Given the description of an element on the screen output the (x, y) to click on. 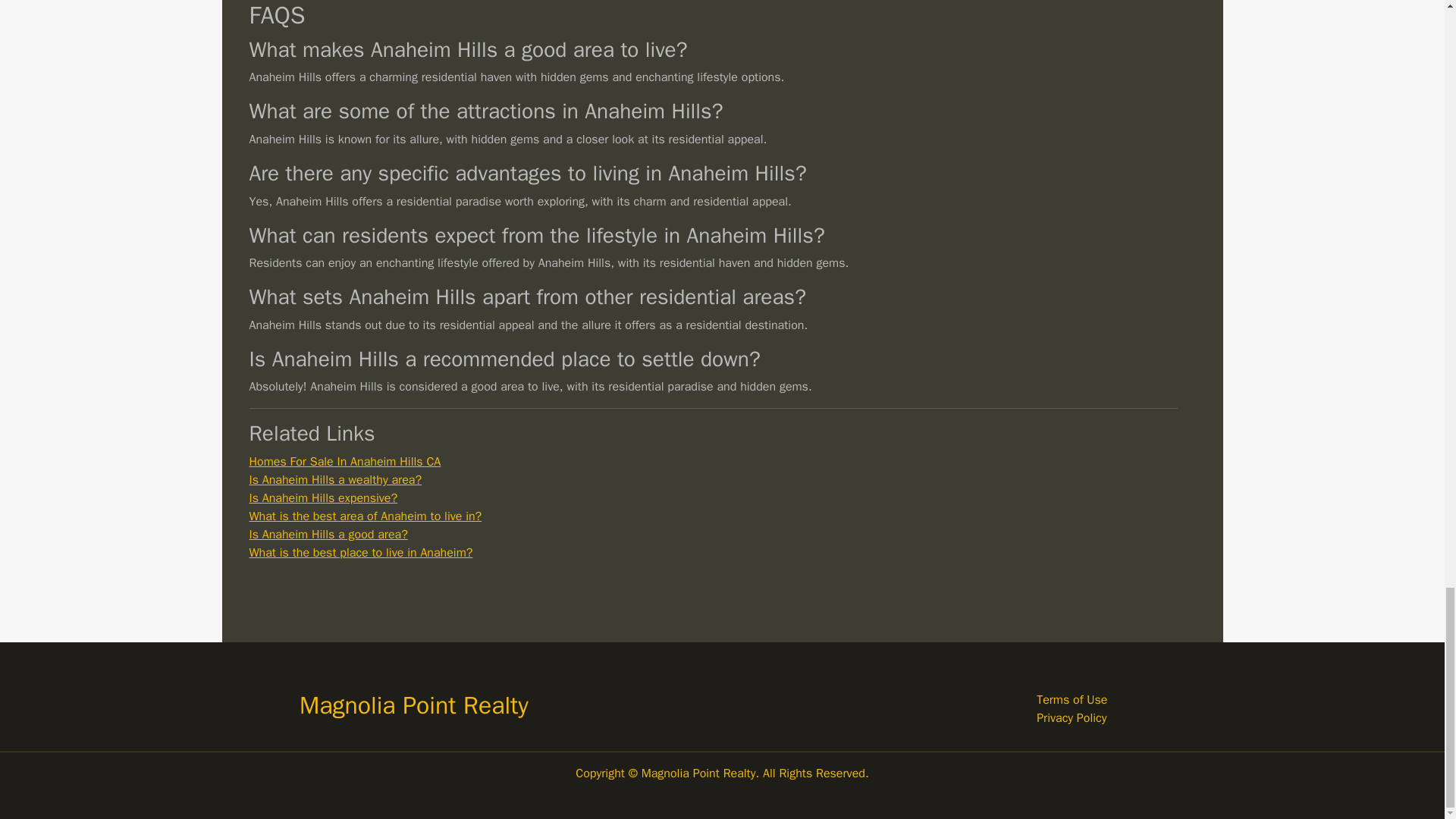
Terms of Use (1071, 699)
Is Anaheim Hills expensive? (322, 498)
Magnolia Point Realty (413, 705)
What is the best area of Anaheim to live in? (364, 516)
Homes For Sale In Anaheim Hills CA (344, 461)
Privacy Policy (1071, 717)
Is Anaheim Hills a wealthy area? (335, 479)
What is the best place to live in Anaheim? (359, 552)
Is Anaheim Hills a good area? (327, 534)
